Given the description of an element on the screen output the (x, y) to click on. 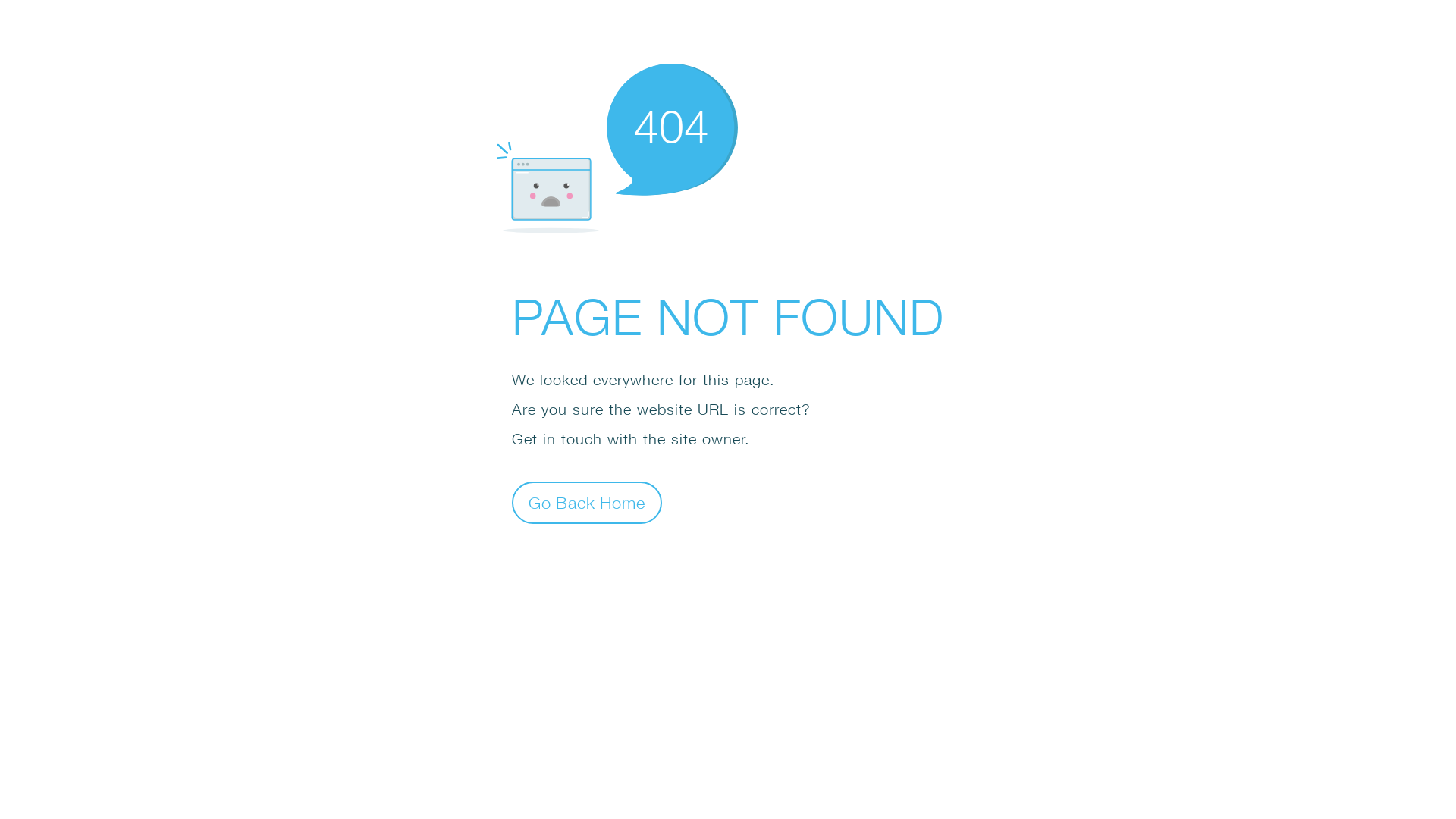
Go Back Home Element type: text (586, 502)
